Given the description of an element on the screen output the (x, y) to click on. 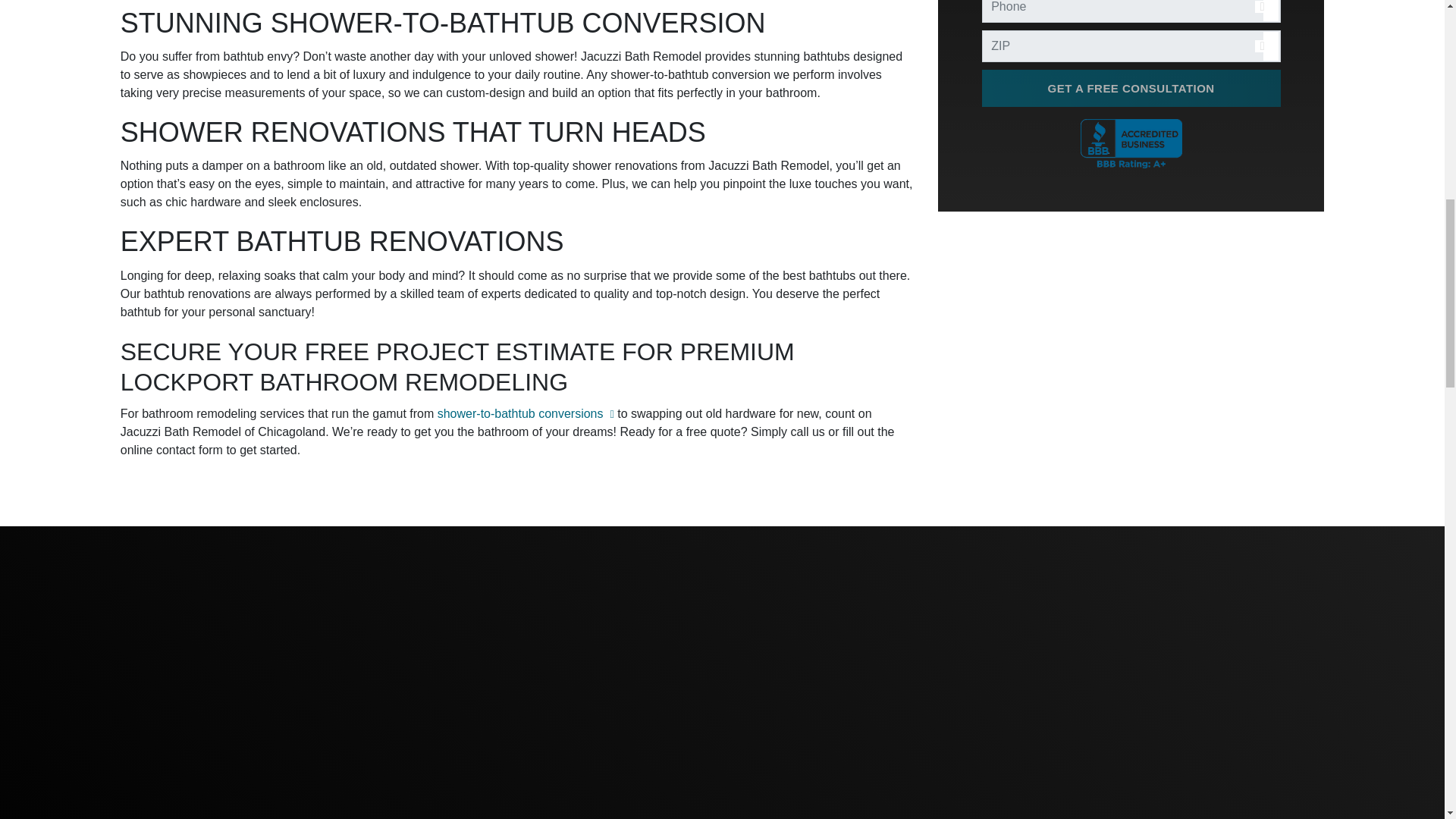
Get a Free Consultation (1131, 24)
